Given the description of an element on the screen output the (x, y) to click on. 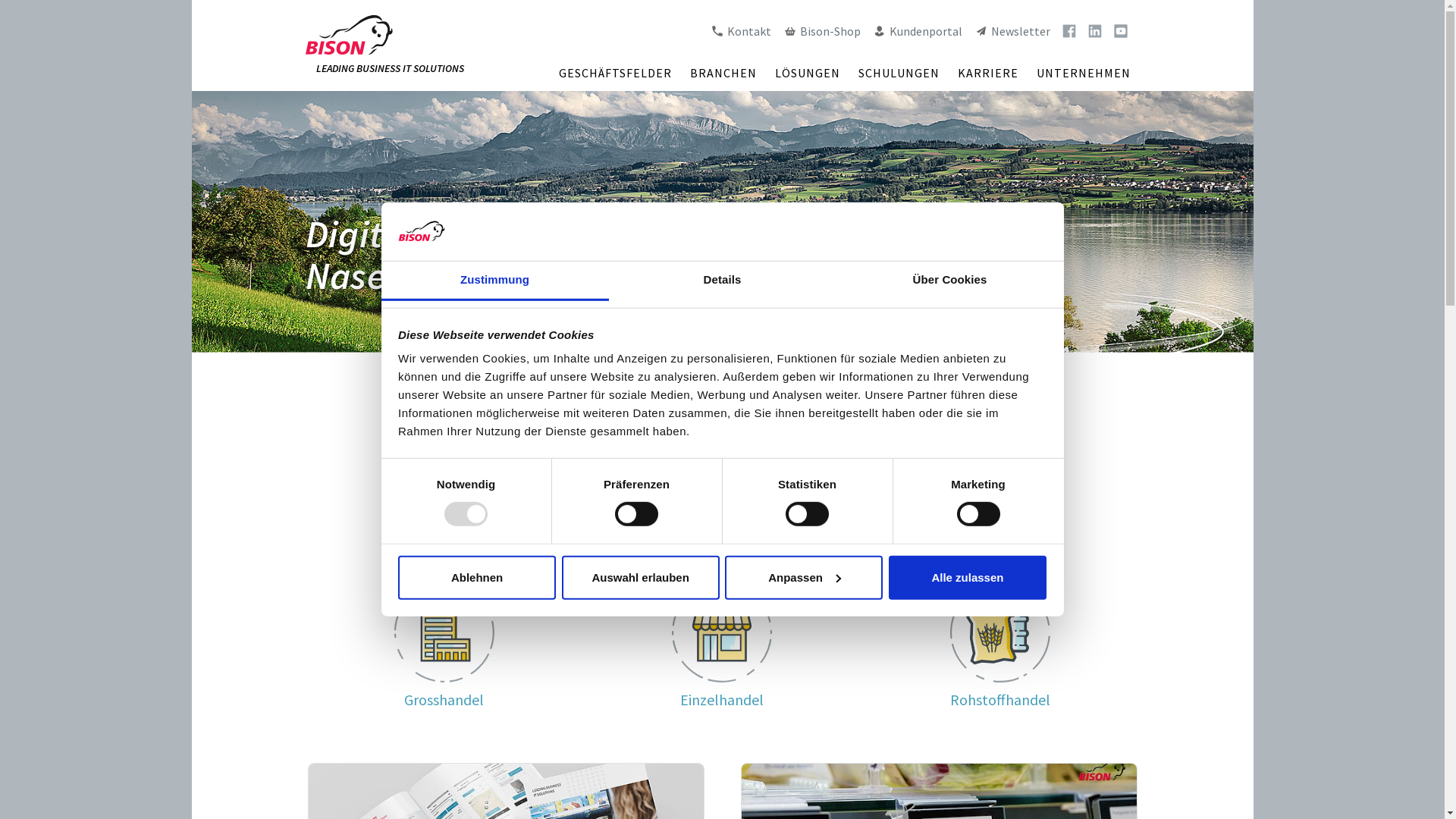
UNTERNEHMEN Element type: text (1082, 72)
KARRIERE Element type: text (986, 72)
LEADING BUSINESS IT SOLUTIONS Element type: text (383, 45)
Einzelhandel Element type: text (721, 699)
Kundenportal Element type: text (916, 30)
Ablehnen Element type: text (476, 577)
BRANCHEN Element type: text (722, 72)
Details Element type: text (721, 281)
Bison-Shop Element type: text (820, 30)
Newsletter Element type: text (1011, 30)
Grosshandel Element type: text (443, 699)
Alle zulassen Element type: text (967, 577)
SCHULUNGEN Element type: text (898, 72)
Anpassen Element type: text (803, 577)
Zustimmung Element type: text (494, 281)
Rohstoffhandel Element type: text (1000, 699)
Auswahl erlauben Element type: text (640, 577)
Kontakt Element type: text (739, 30)
